Given the description of an element on the screen output the (x, y) to click on. 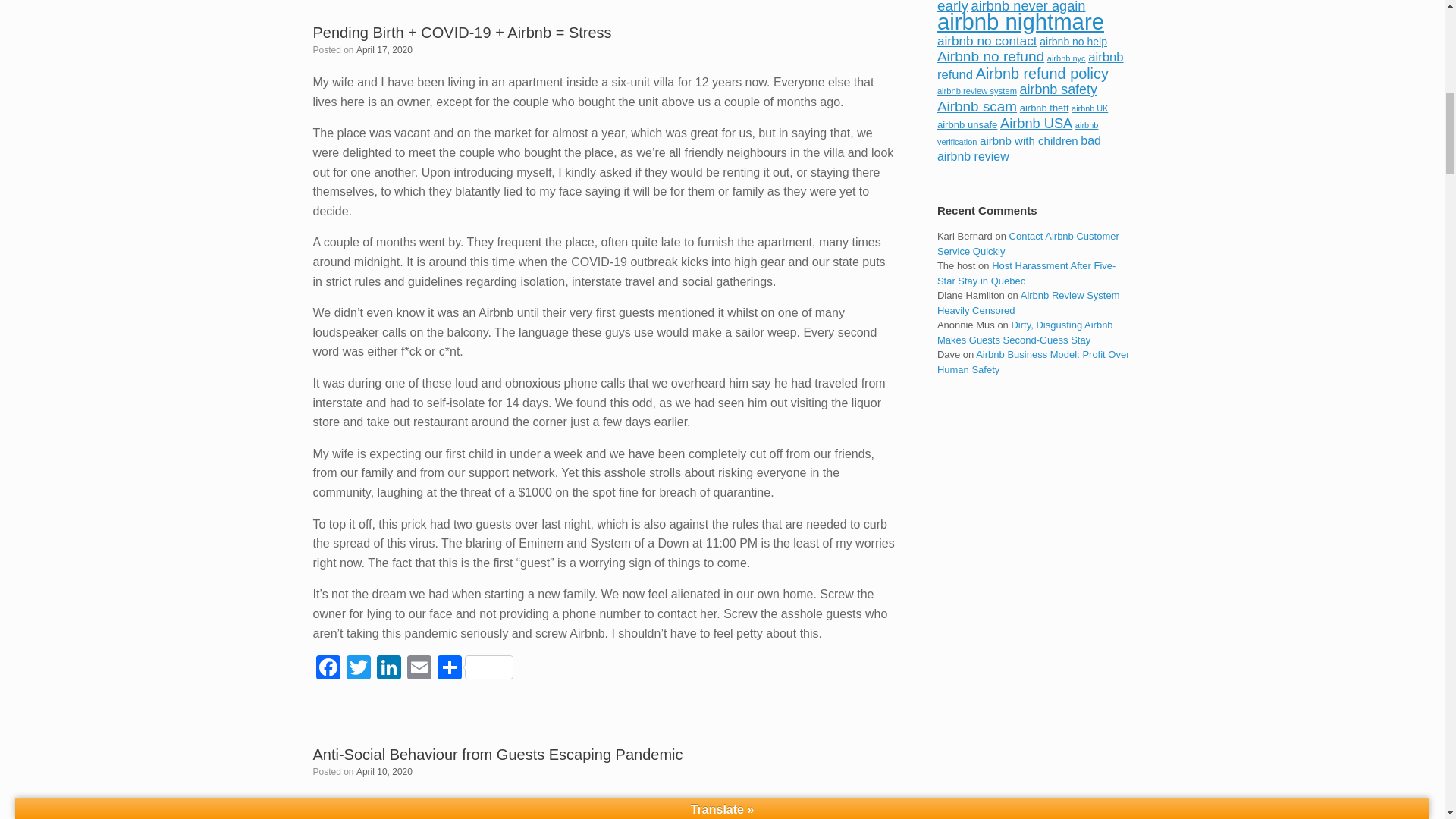
LinkedIn (387, 669)
Twitter (357, 669)
April 17, 2020 (384, 50)
Email (418, 669)
Anti-Social Behaviour from Guests Escaping Pandemic (497, 754)
Facebook (327, 669)
April 10, 2020 (384, 771)
